Given the description of an element on the screen output the (x, y) to click on. 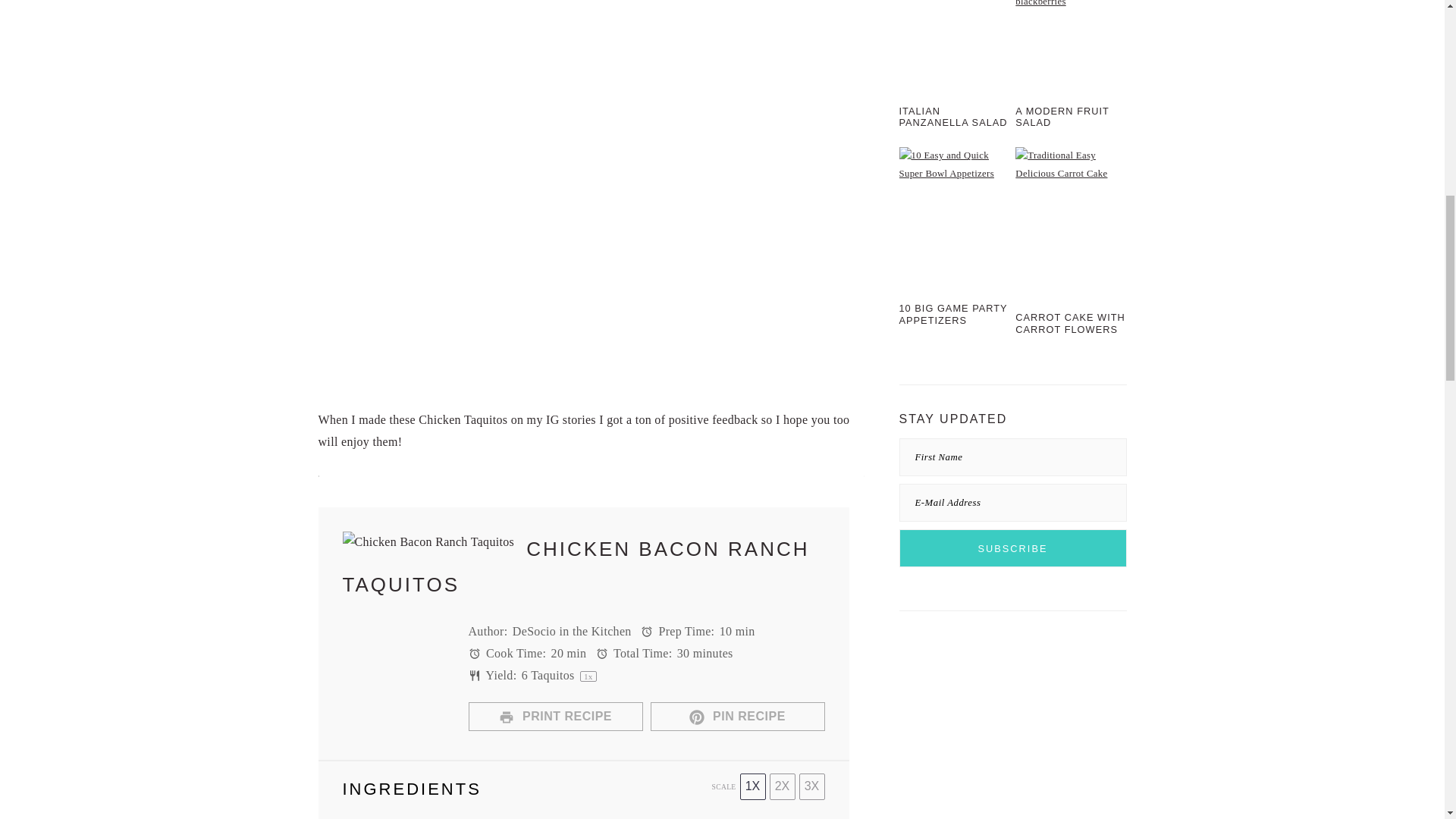
3X (812, 786)
Italian Panzanella Salad (954, 44)
2X (781, 786)
Subscribe (1012, 548)
PIN RECIPE (737, 716)
1X (752, 786)
PRINT RECIPE (555, 716)
A Modern Fruit Salad (1069, 44)
